Given the description of an element on the screen output the (x, y) to click on. 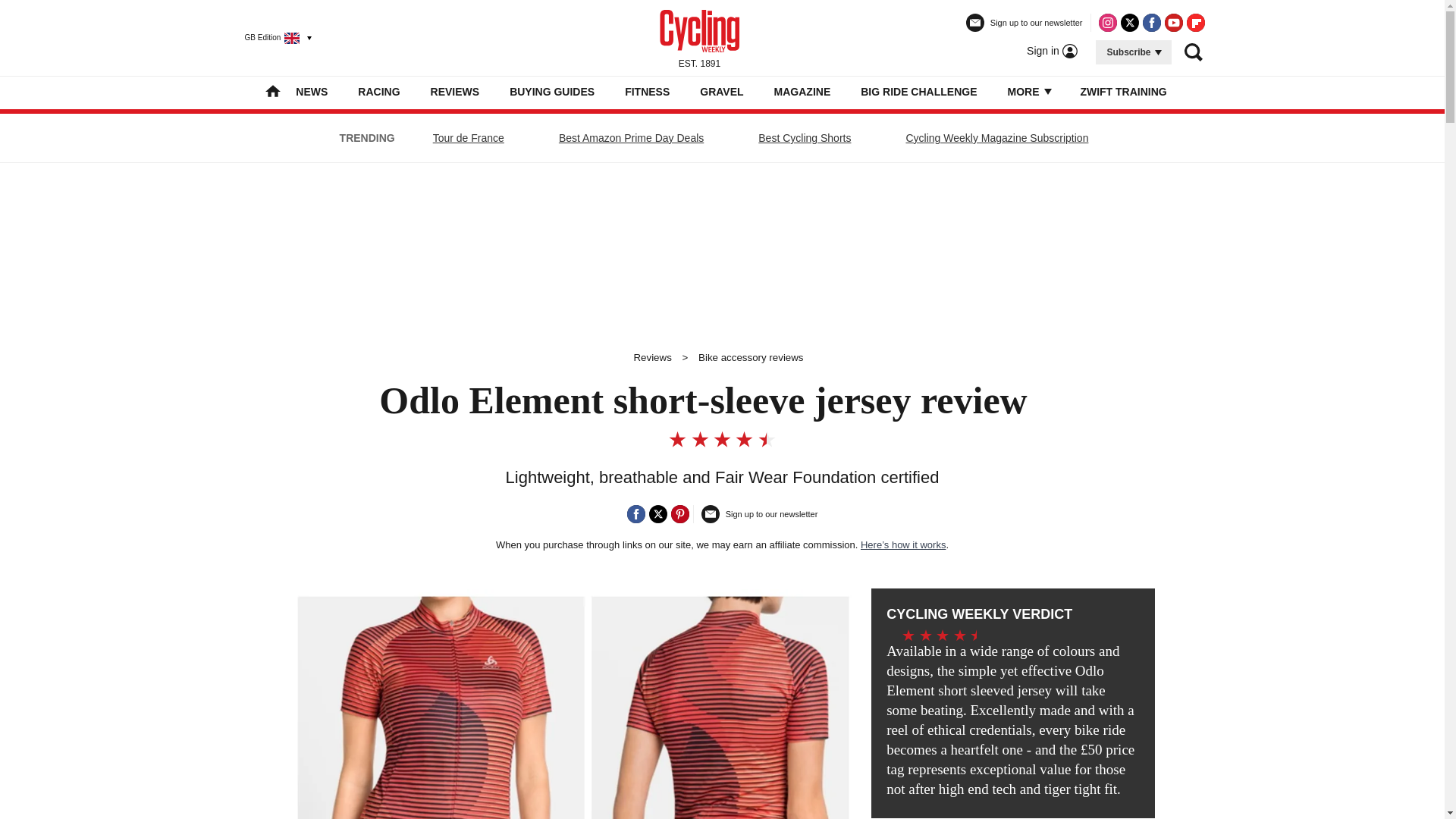
REVIEWS (455, 91)
BUYING GUIDES (551, 91)
GRAVEL (721, 91)
FITNESS (646, 91)
MAGAZINE (802, 91)
NEWS (311, 91)
Best Amazon Prime Day Deals (631, 137)
EST. 1891 (699, 37)
Sign up to our newsletter (1024, 28)
Reviews (652, 357)
Tour de France (468, 137)
ZWIFT TRAINING (1123, 91)
Bike accessory reviews (750, 357)
RACING (378, 91)
GB Edition (271, 37)
